Given the description of an element on the screen output the (x, y) to click on. 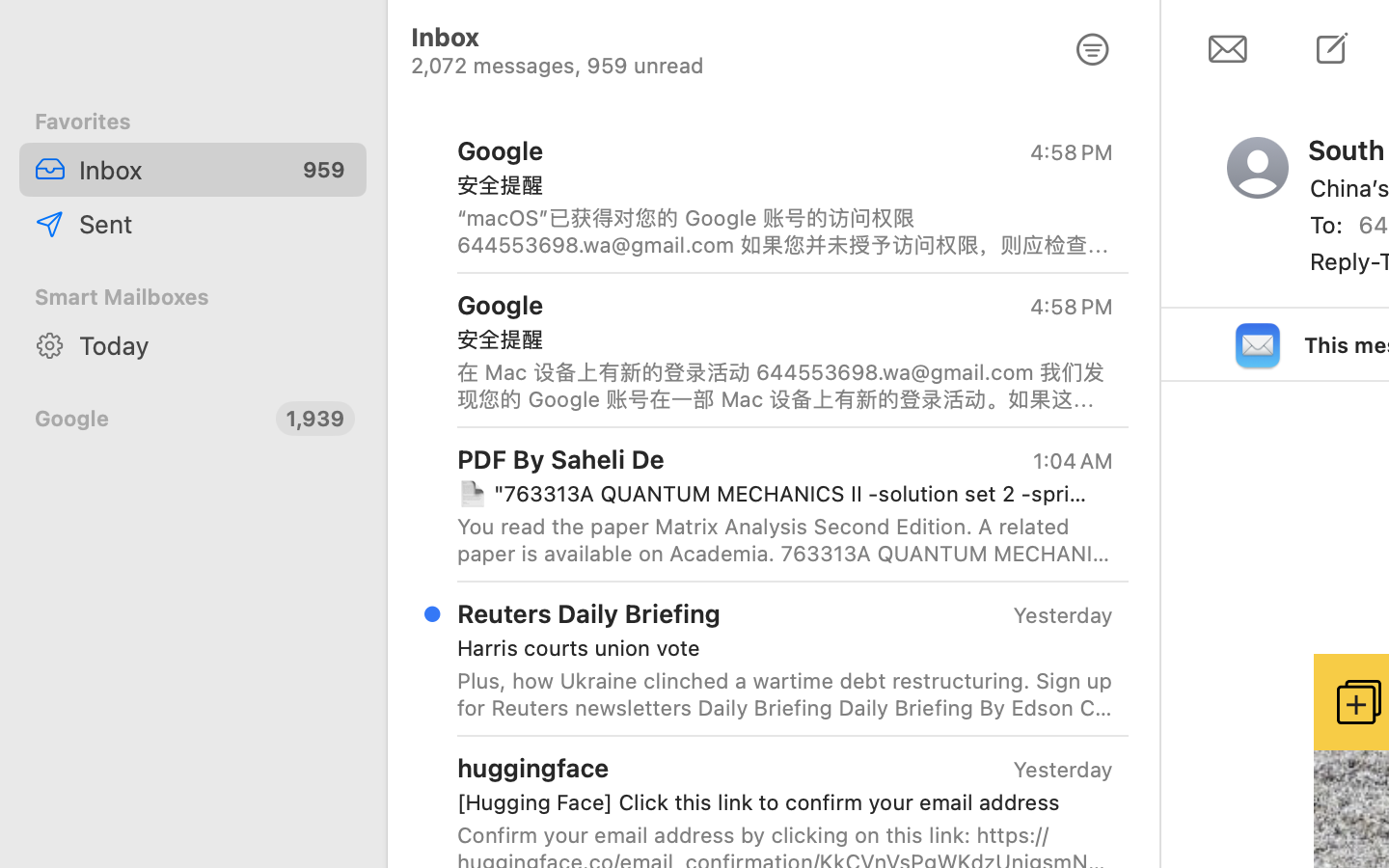
安全提醒 Element type: AXStaticText (777, 184)
You read the paper Matrix Analysis Second Edition. A related paper is available on Academia. 763313A QUANTUM MECHANICS II -solution set 2 -spring 2014 Saheli De 237 Views View PDF ▸ Download PDF ⬇ Your recent reading history: Matrix Analysis Second Edition - Benedict Cui Want fewer recommendations like this one? 580 California St., Suite 400, San Francisco, CA, 94104 Unsubscribe Privacy Policy Terms of Service © 2024 Academia Element type: AXStaticText (784, 540)
Yesterday Element type: AXStaticText (1062, 614)
📄 "763313A QUANTUM MECHANICS II -solution set 2 -spring 2014" by Saheli De Element type: AXStaticText (777, 493)
在 Mac 设备上有新的登录活动 644553698.wa@gmail.com 我们发现您的 Google 账号在一部 Mac 设备上有新的登录活动。如果这是您本人的操作，那么您无需采取任何行动。如果这不是您本人的操作，我们会帮助您保护您的账号。 查看活动 您也可以访问以下网址查看安全性活动： https://myaccount.google.com/notifications 我们向您发送这封电子邮件，目的是让您了解关于您的 Google 账号和服务的重大变化。 © 2024 Google LLC, 1600 Amphitheatre Parkway, Mountain View, CA 94043, USA Element type: AXStaticText (784, 385)
